Given the description of an element on the screen output the (x, y) to click on. 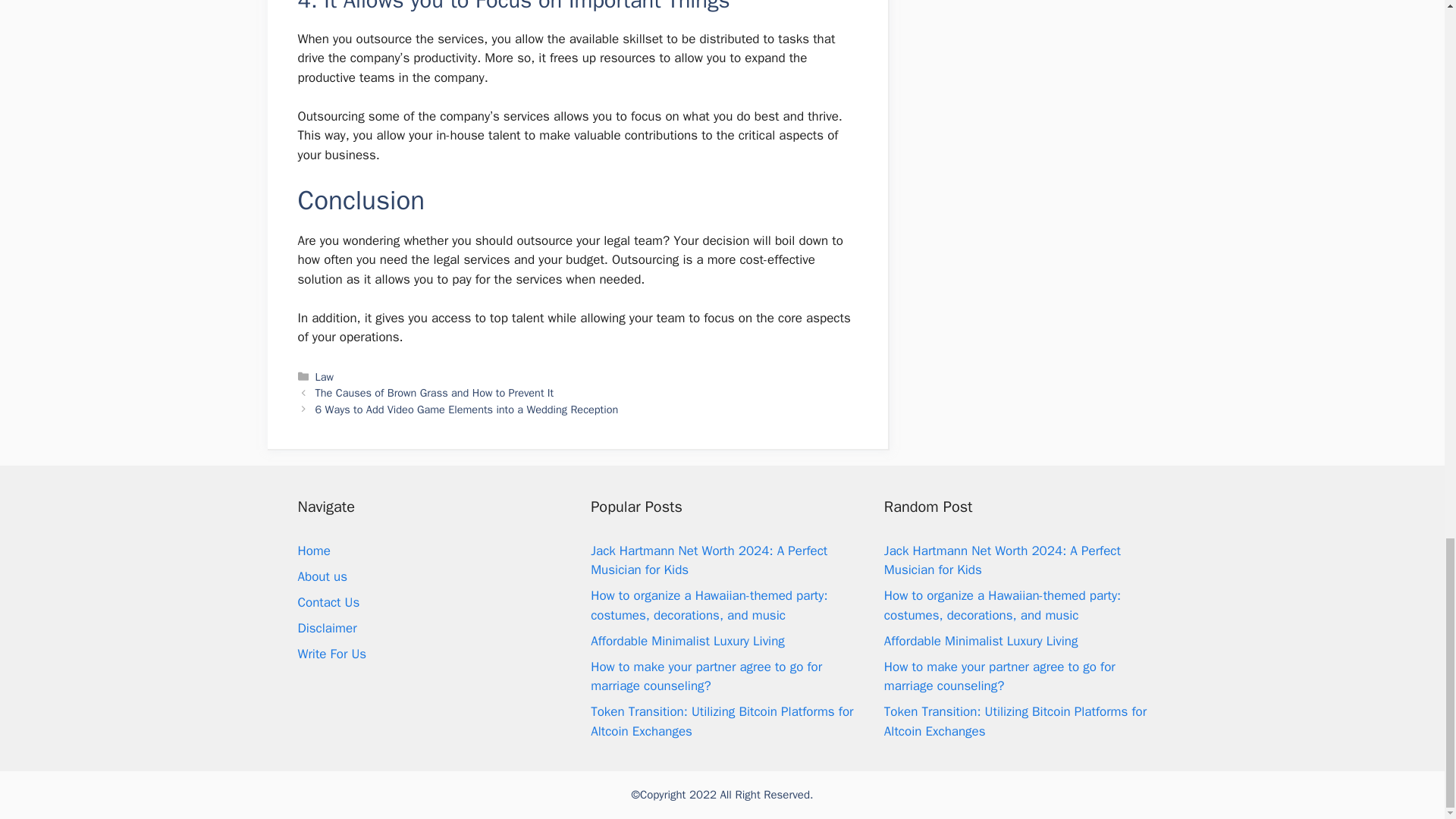
Disclaimer (326, 627)
6 Ways to Add Video Game Elements into a Wedding Reception (466, 409)
Home (313, 550)
Write For Us (331, 653)
Law (324, 377)
The Causes of Brown Grass and How to Prevent It (434, 392)
Affordable Minimalist Luxury Living (687, 641)
About us (322, 576)
Jack Hartmann Net Worth 2024: A Perfect Musician for Kids (709, 560)
